Given the description of an element on the screen output the (x, y) to click on. 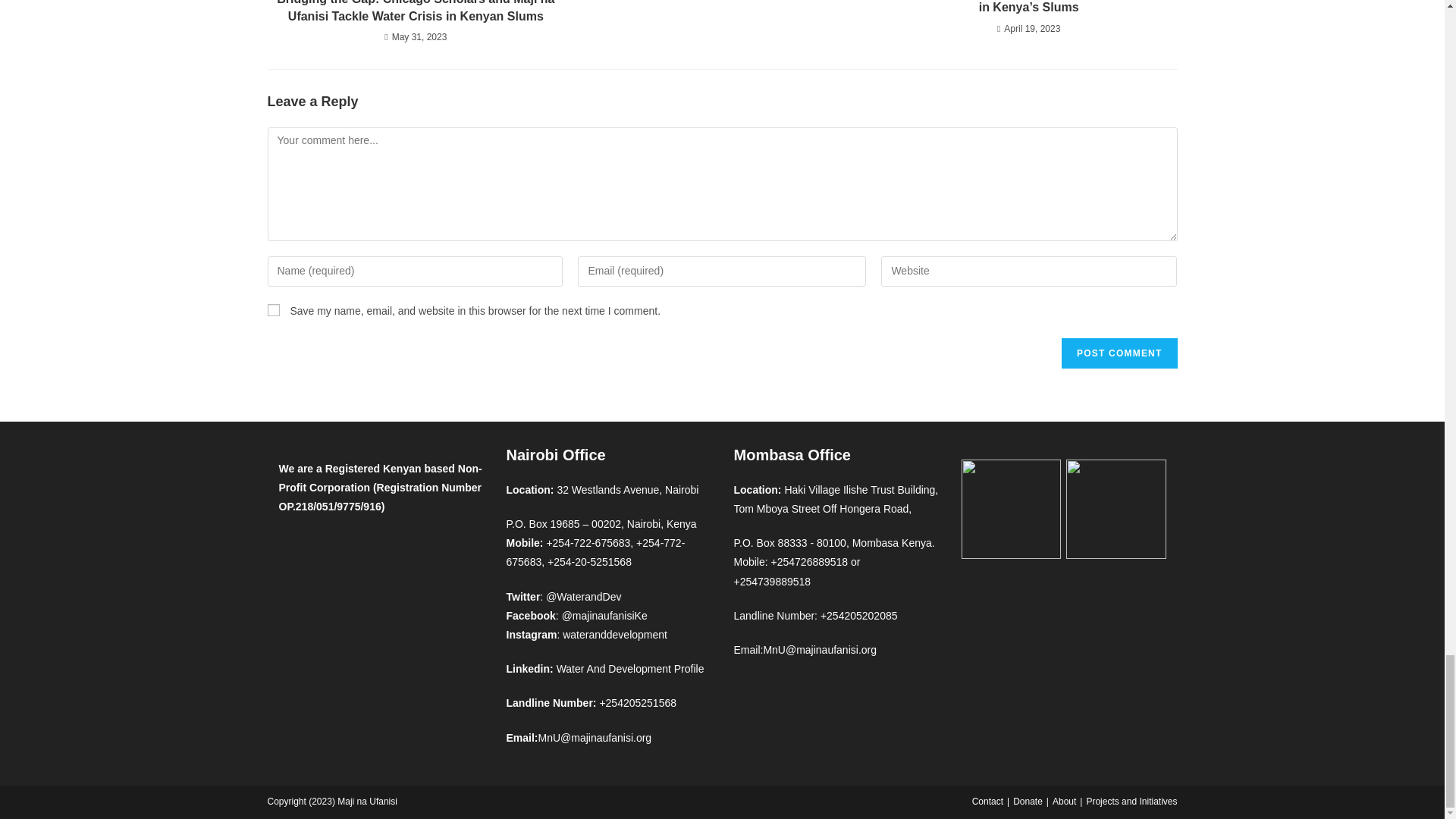
Post Comment (1118, 353)
yes (272, 309)
